Given the description of an element on the screen output the (x, y) to click on. 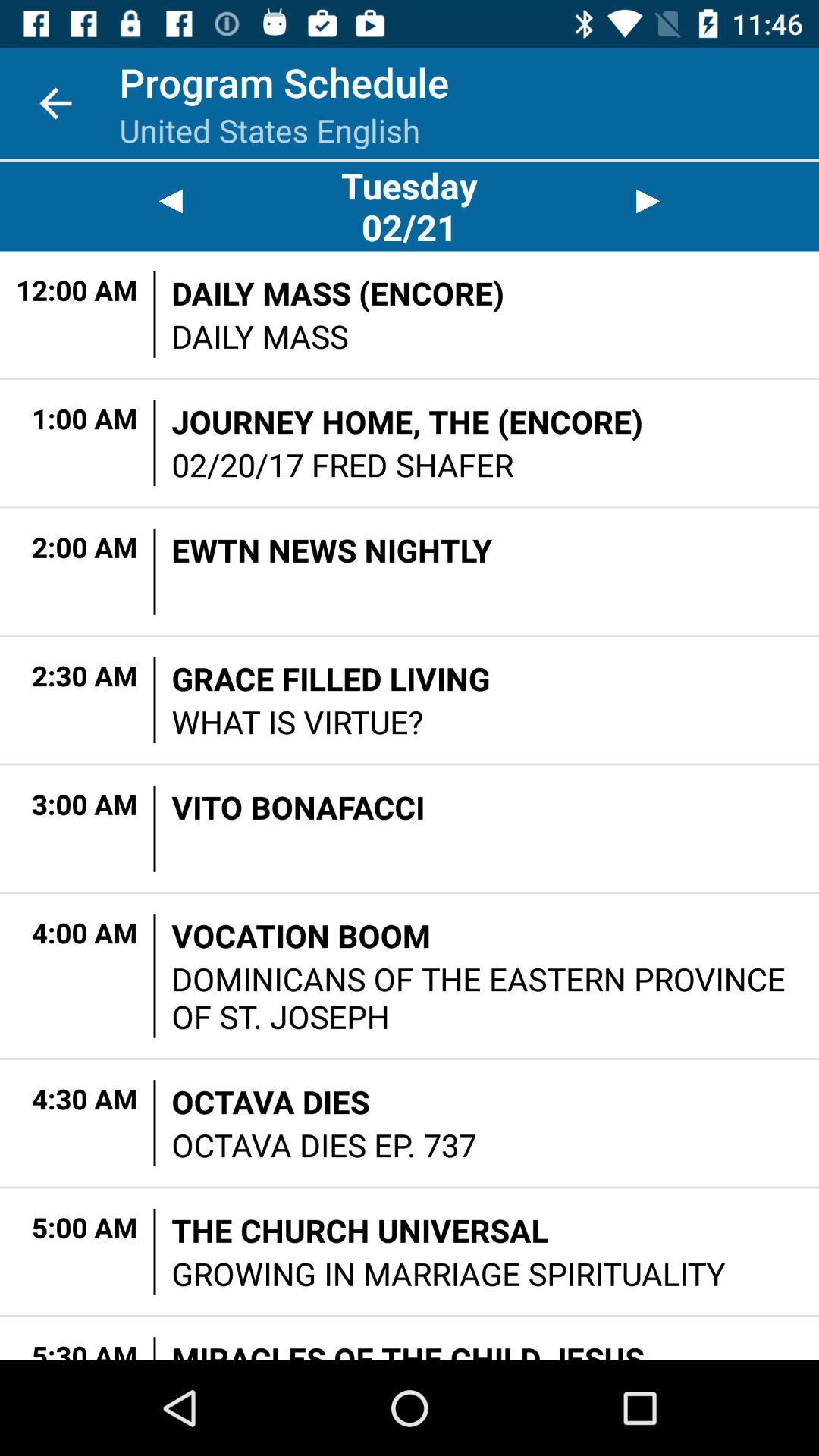
scroll to vocation boom (300, 935)
